Given the description of an element on the screen output the (x, y) to click on. 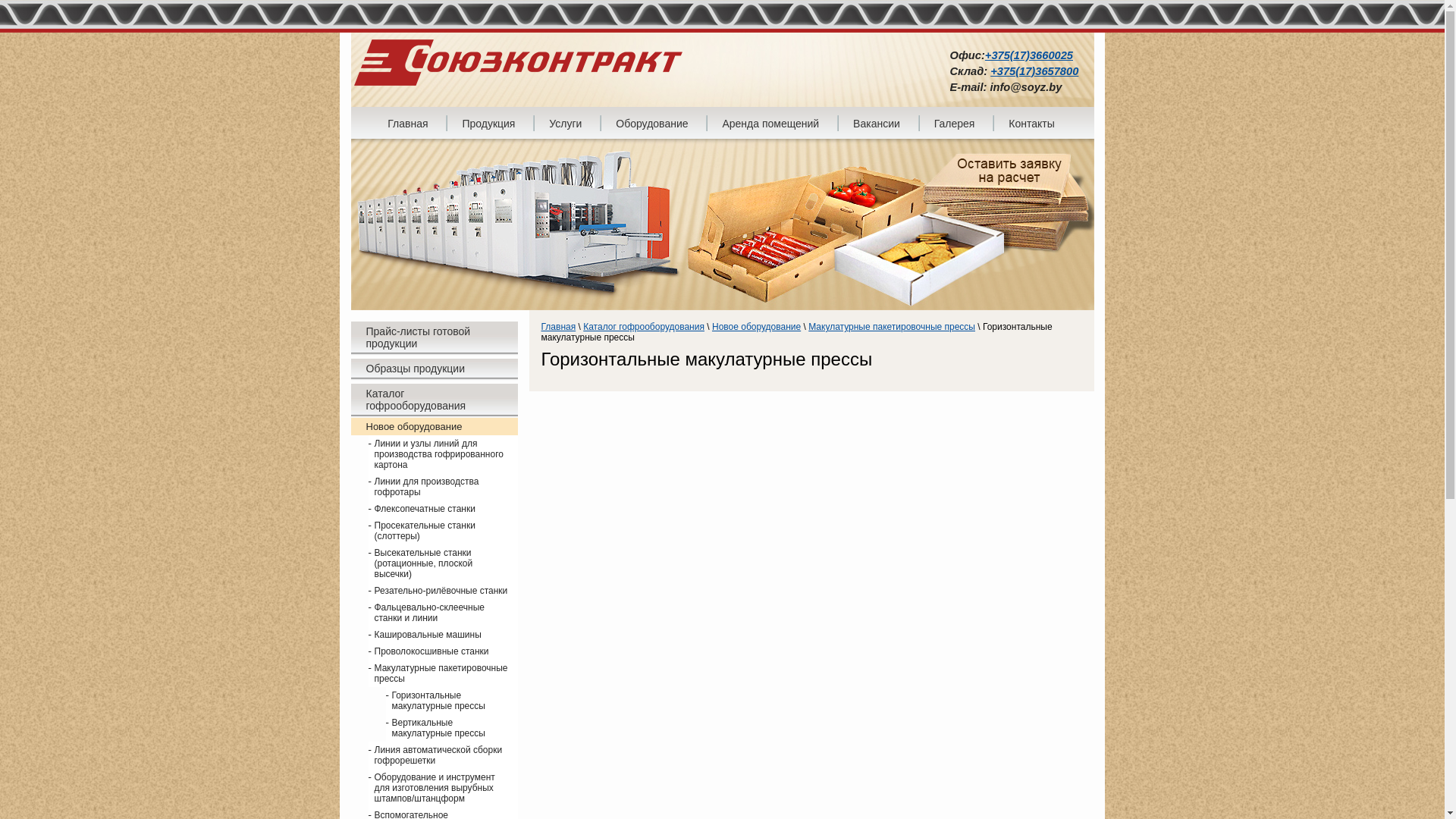
+375(17)3657800 Element type: text (1034, 71)
+375(17)3660025 Element type: text (1029, 55)
